Given the description of an element on the screen output the (x, y) to click on. 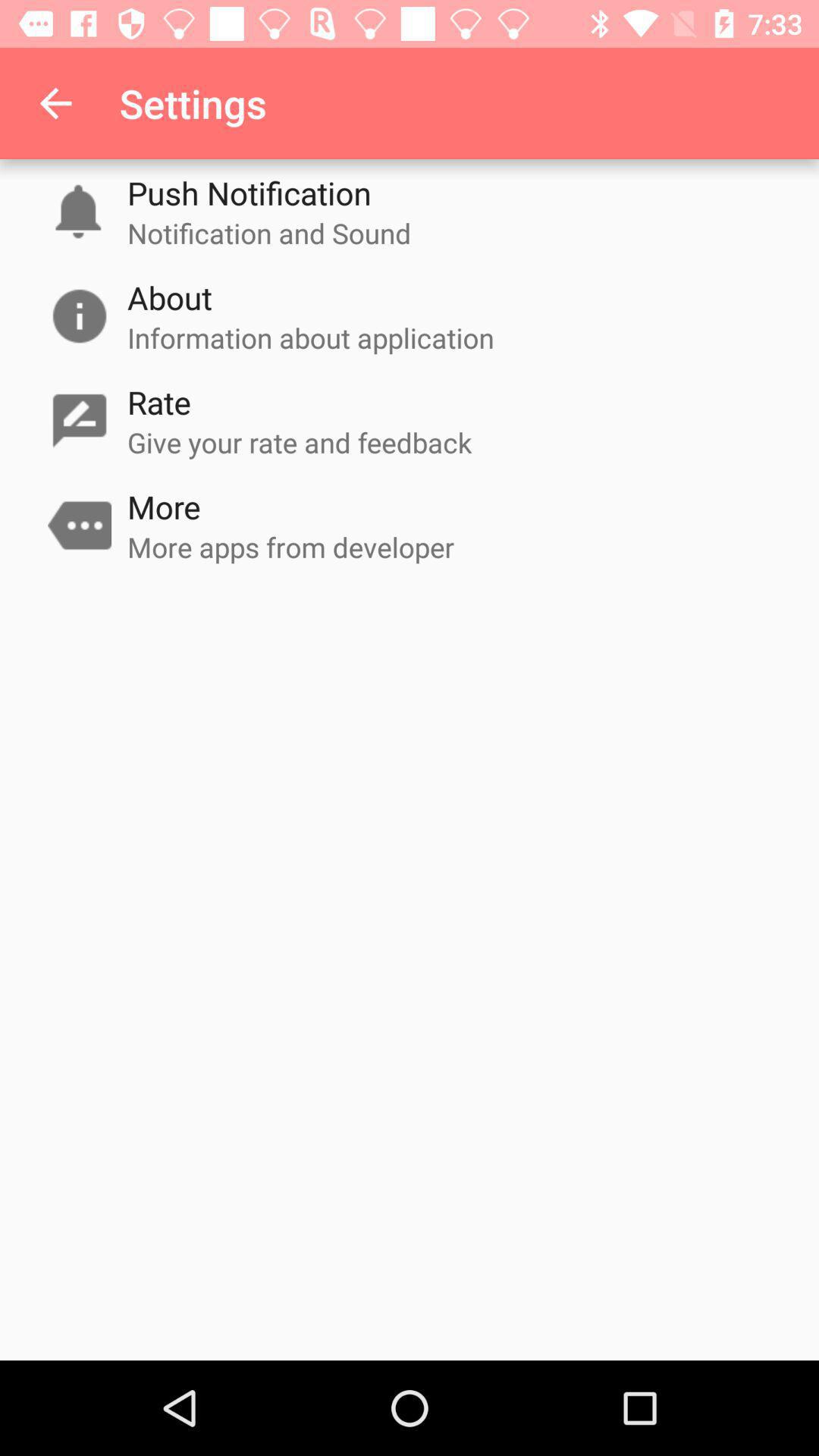
turn off the notification and sound (269, 232)
